Given the description of an element on the screen output the (x, y) to click on. 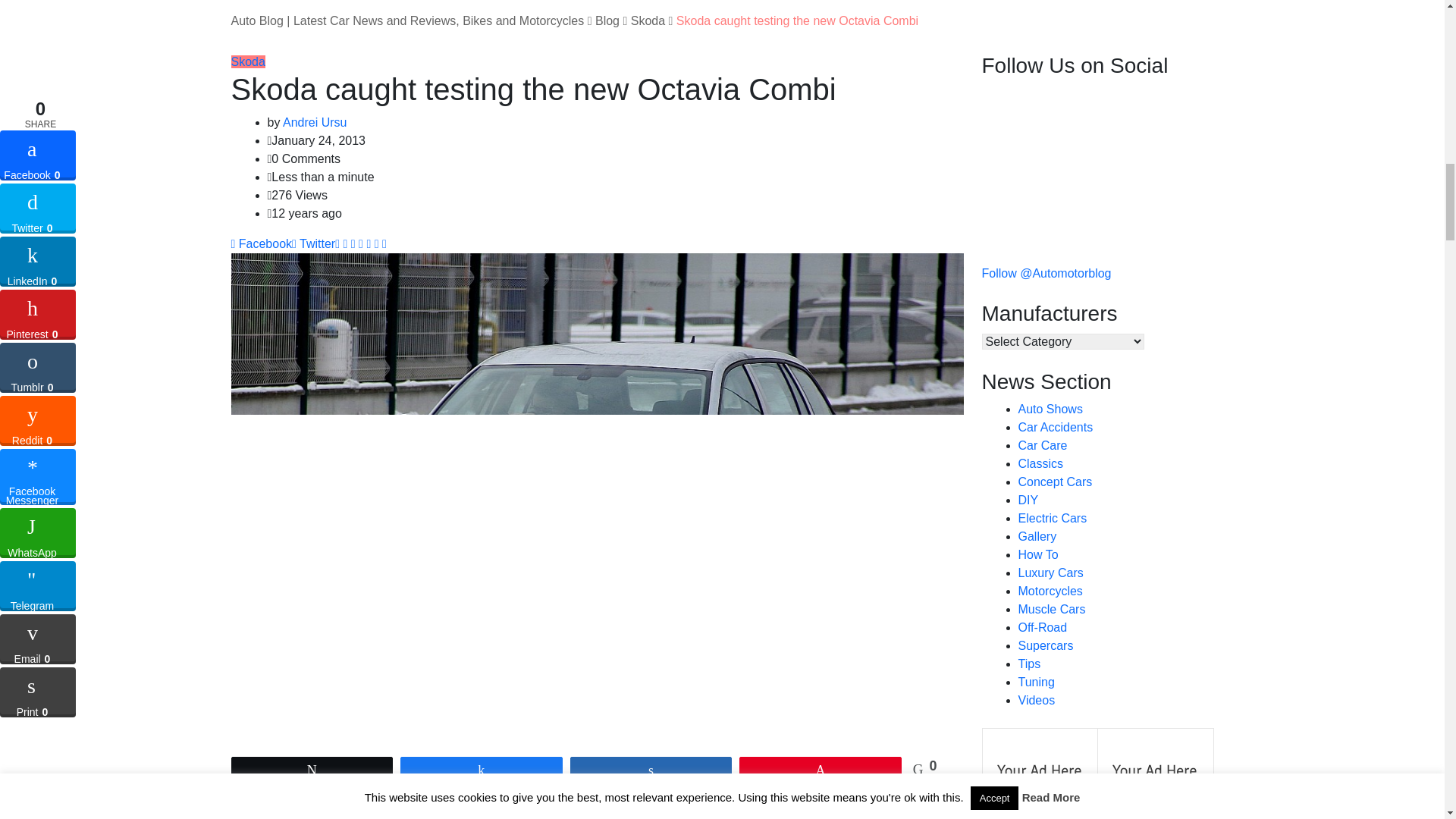
Go to Blog. (607, 20)
Go to the Skoda Category archives. (647, 20)
Posts by Andrei Ursu (314, 122)
Advertise (1155, 779)
Advertise (1039, 779)
